Given the description of an element on the screen output the (x, y) to click on. 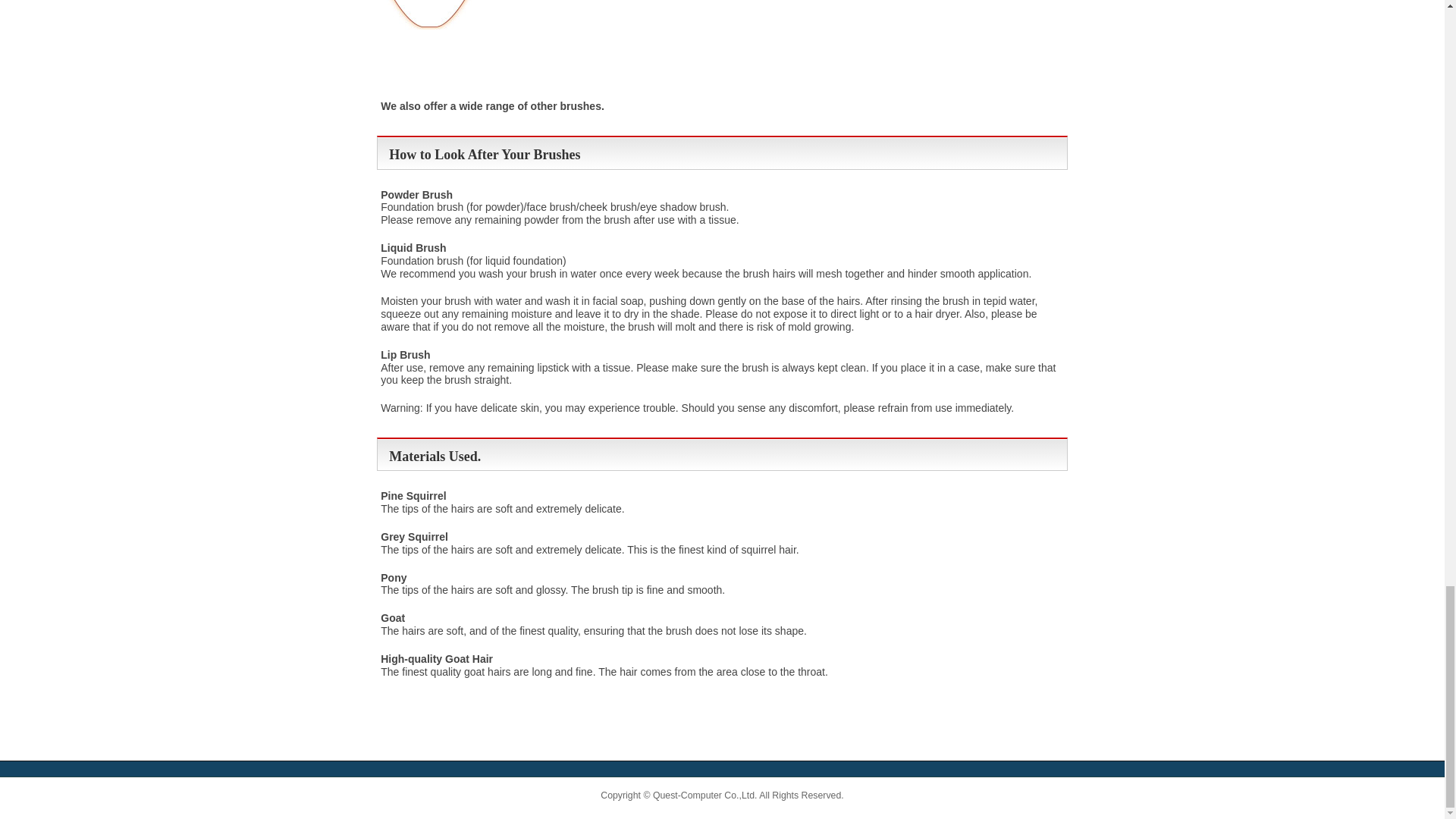
Quest-Computer Co.,Ltd. (704, 795)
